Given the description of an element on the screen output the (x, y) to click on. 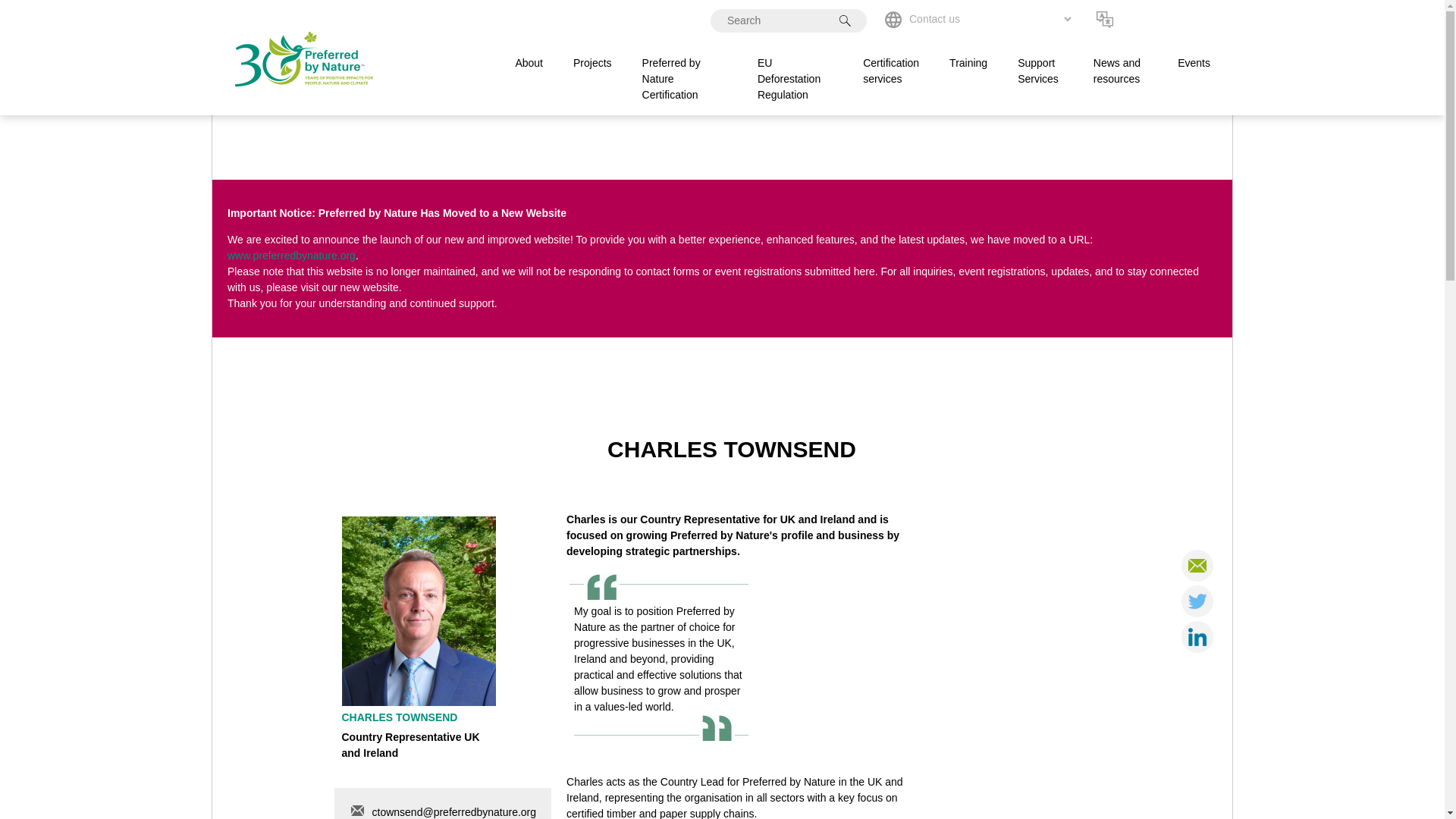
About (529, 62)
Training (968, 62)
Contact us (989, 18)
Preferred by Nature Certification (671, 77)
Certification services (890, 70)
Enter the terms you wish to search for. (788, 20)
EU Deforestation Regulation (789, 77)
Home (303, 106)
Projects (592, 62)
